Given the description of an element on the screen output the (x, y) to click on. 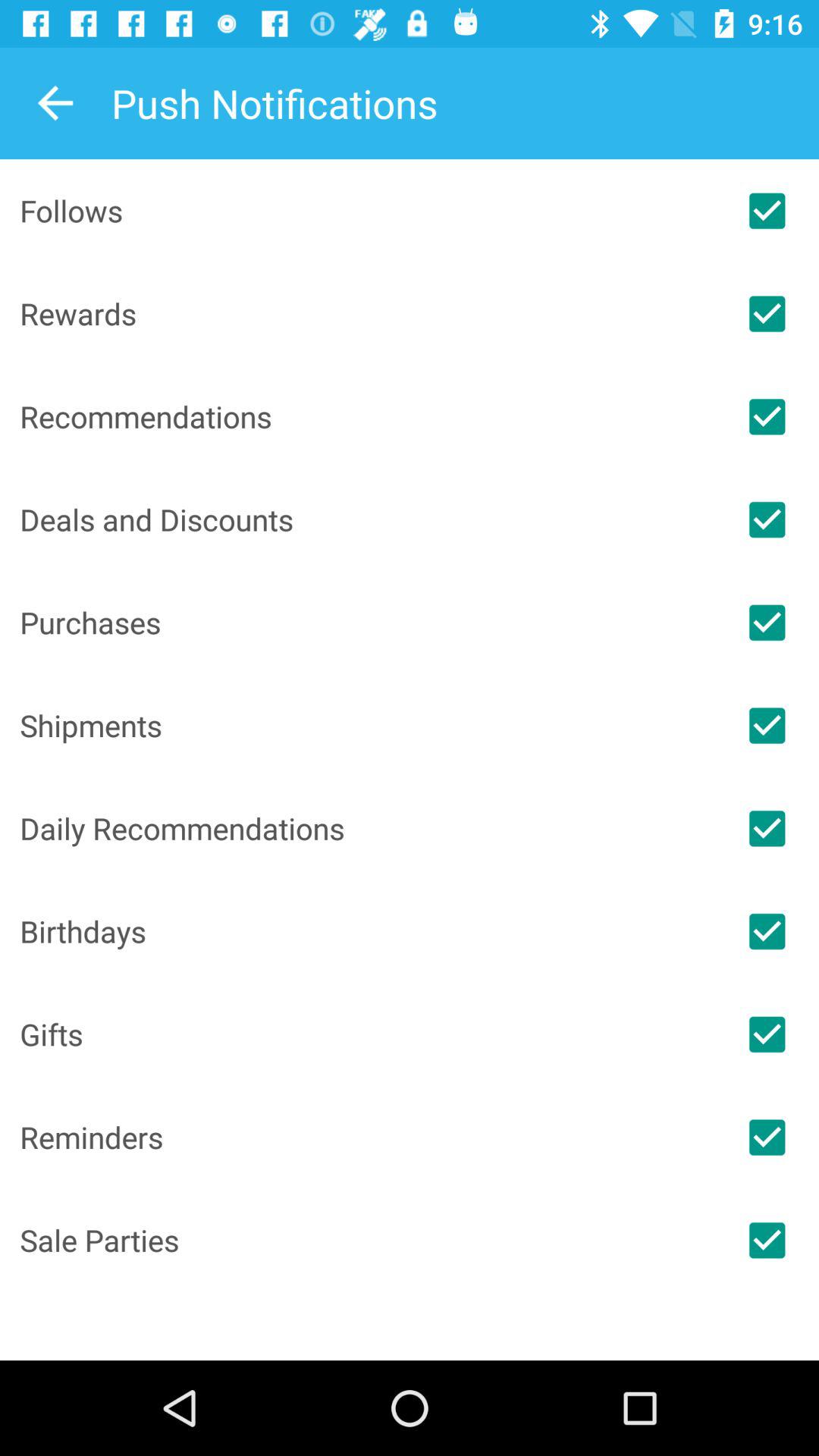
notification option for gifts (767, 1034)
